Given the description of an element on the screen output the (x, y) to click on. 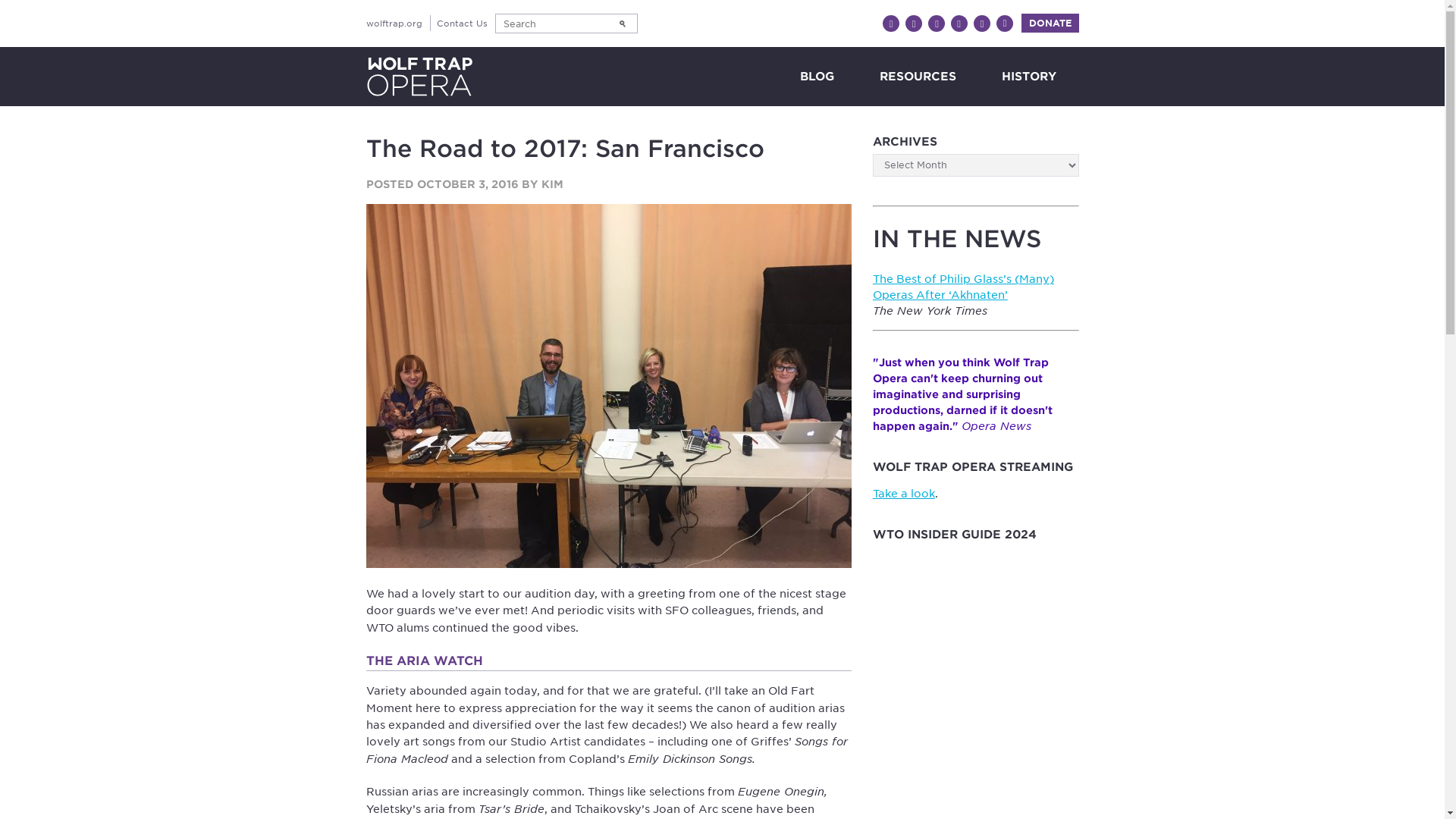
Twitter (913, 23)
Take a look (903, 493)
DONATE (1049, 22)
Instagram (936, 23)
YouTube (959, 23)
Flickr (1004, 23)
Wolf Trap Opera (419, 76)
wolftrap.org (393, 23)
Facebook (890, 23)
Contact Us (461, 23)
RESOURCES (917, 76)
Search (622, 23)
Search (622, 23)
HISTORY (1028, 76)
BLOG (816, 76)
